Given the description of an element on the screen output the (x, y) to click on. 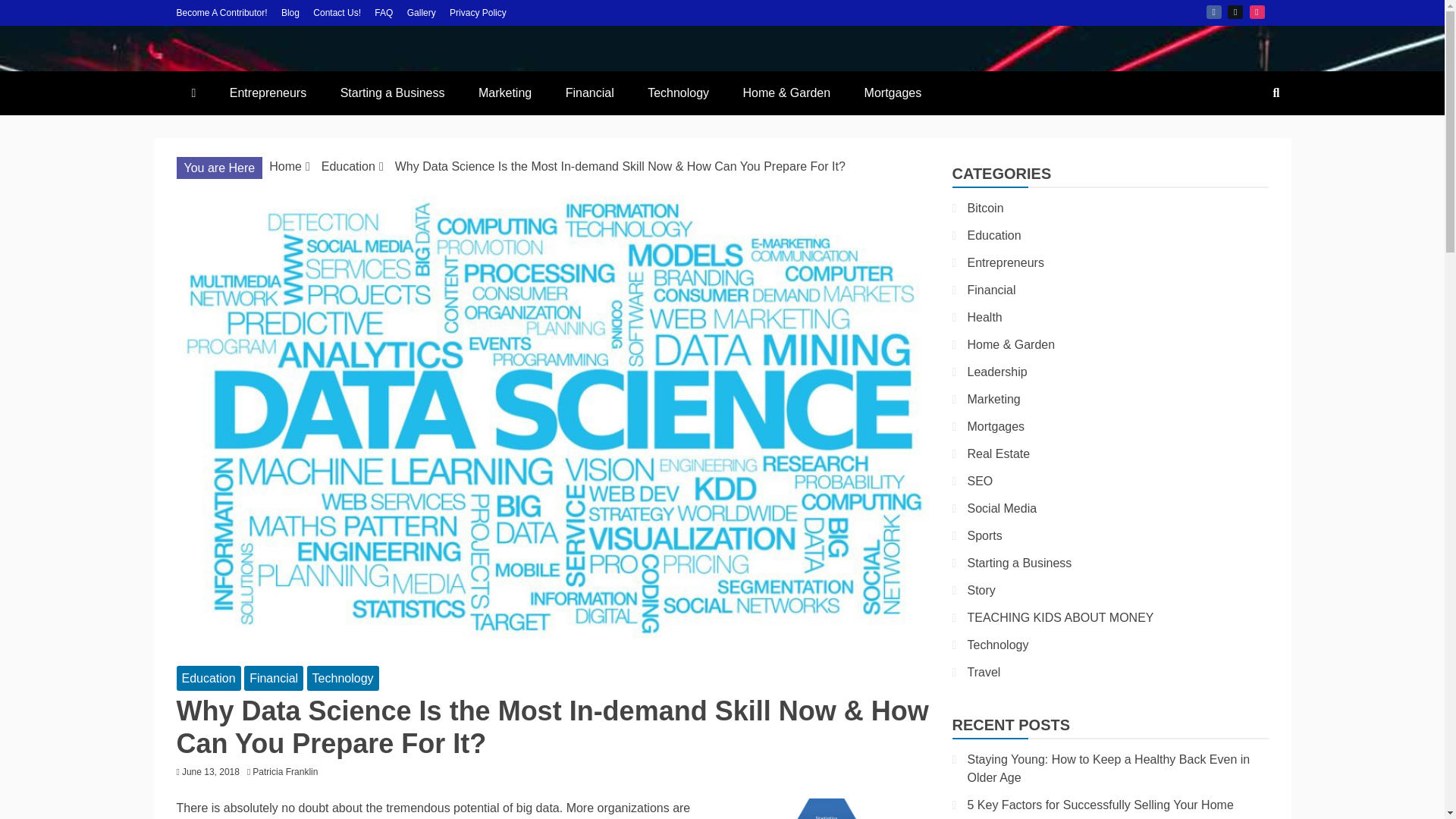
Facebook (1214, 11)
Education (208, 678)
Contact Us! (337, 12)
Technology (342, 678)
Entrepreneurs (267, 92)
Marketing (505, 92)
Privacy Policy (477, 12)
Mortgages (892, 92)
Financial (273, 678)
Twitter (1235, 11)
Financial (589, 92)
June 13, 2018 (211, 771)
Patricia Franklin (287, 771)
Education (348, 165)
Gallery (421, 12)
